Given the description of an element on the screen output the (x, y) to click on. 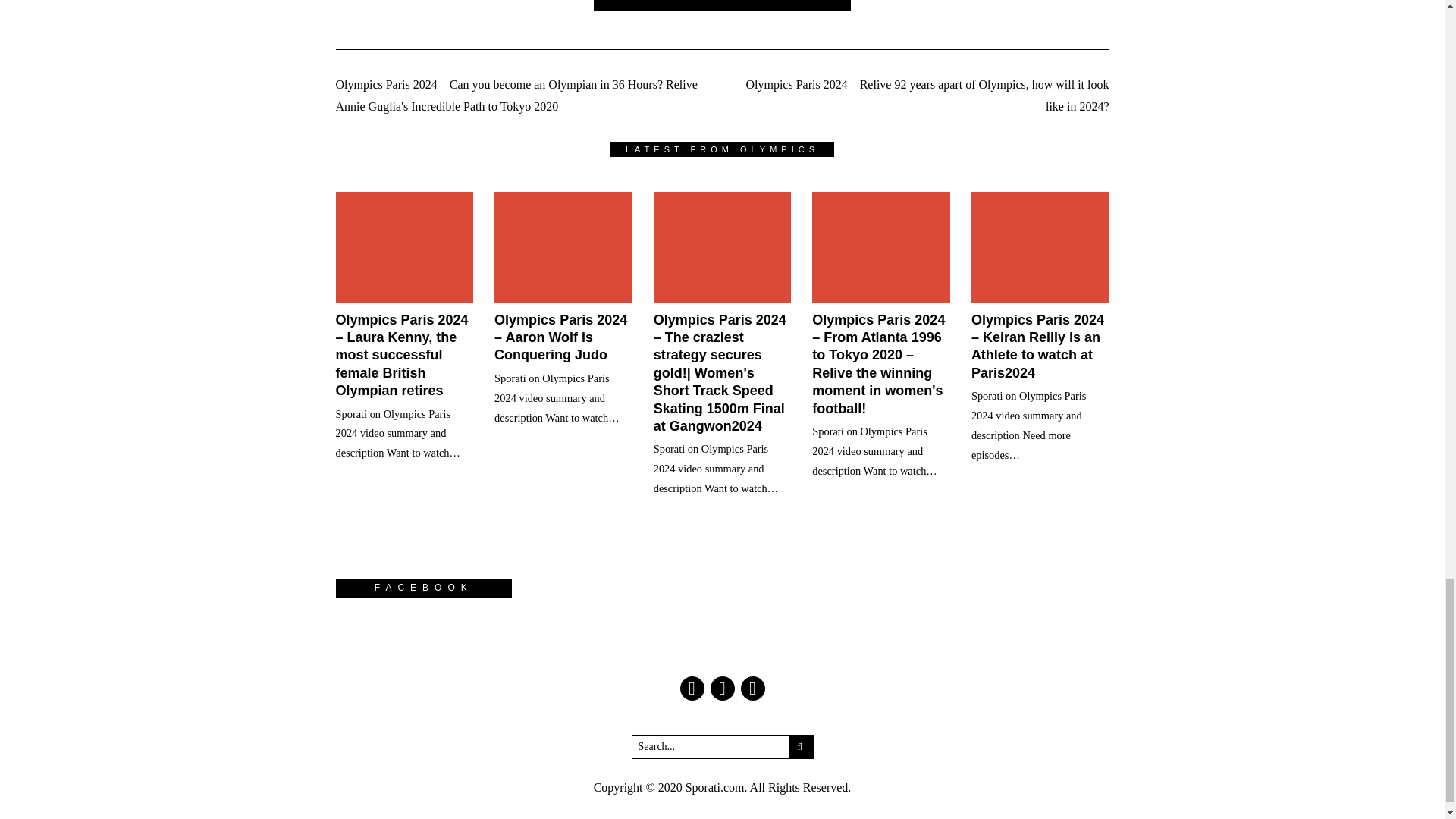
Twitter (721, 688)
Facebook (691, 688)
SHOW COMMENTS (722, 5)
Pinterest (751, 688)
